Given the description of an element on the screen output the (x, y) to click on. 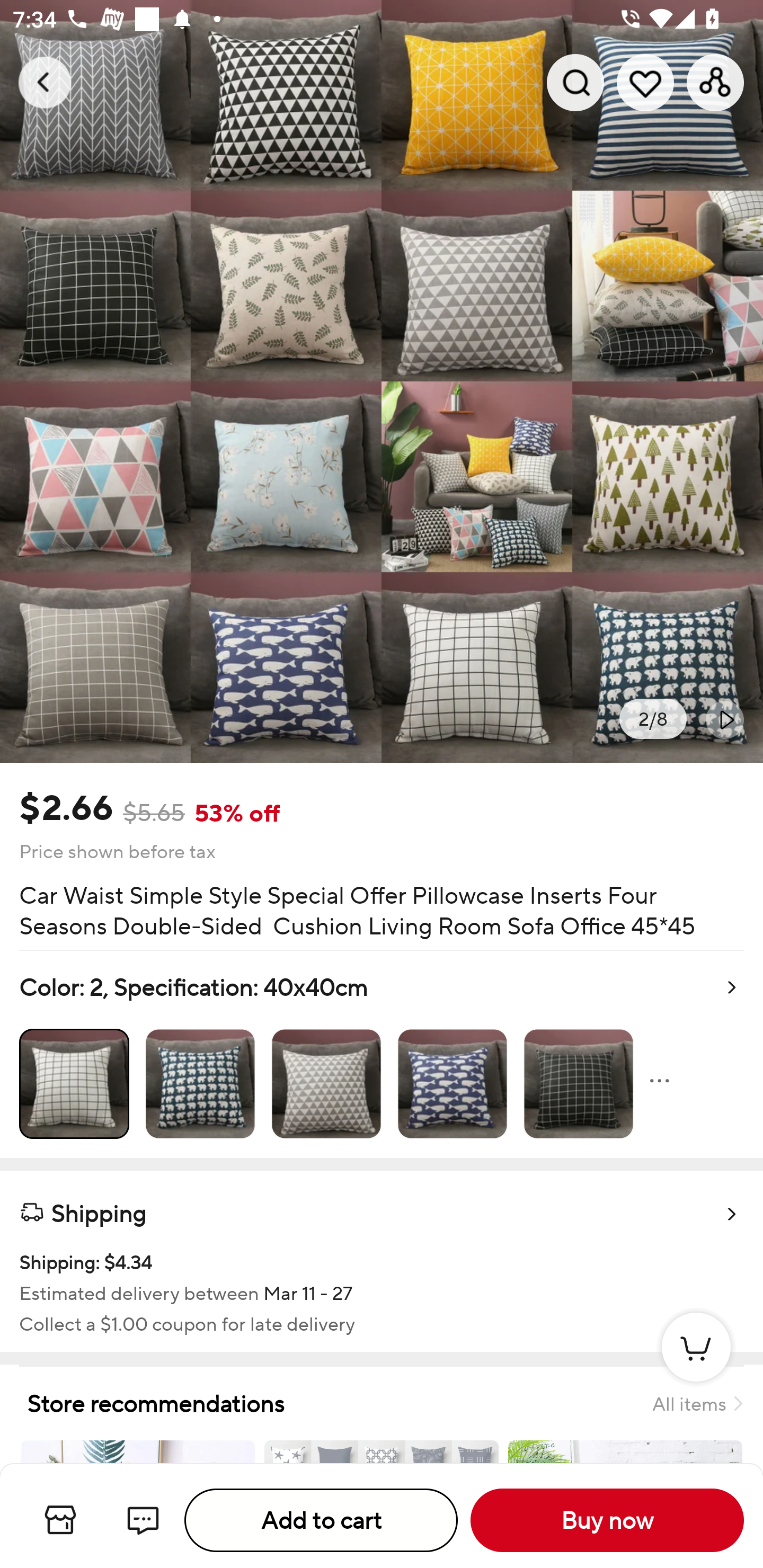
Navigate up (44, 82)
 (724, 719)
Color: 2, Specification: 40x40cm  (381, 1054)
All items (697, 1403)
Add to cart (320, 1520)
Buy now (606, 1520)
